Given the description of an element on the screen output the (x, y) to click on. 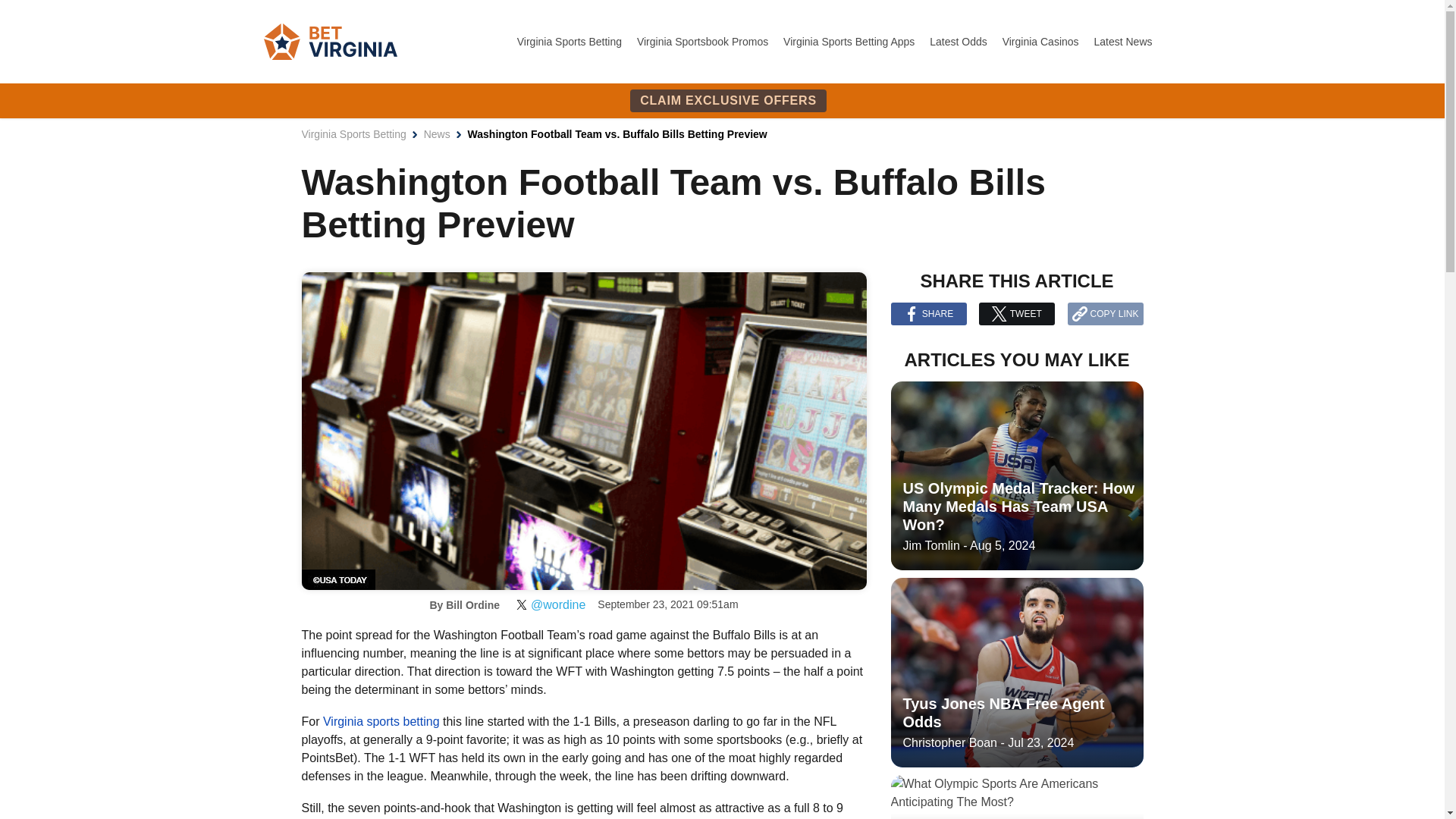
Virginia Sportsbook Promos (704, 41)
Latest Odds (960, 41)
US Olympic Medal Tracker: How Many Medals Has Team USA Won? (1015, 475)
Virginia Sports Betting Apps (850, 41)
Virginia Sports Betting (570, 41)
Virginia Sports Betting (353, 133)
News (436, 133)
What Olympic Sports Are Americans Anticipating The Most? (1015, 796)
Virginia Casinos (1042, 41)
Tyus Jones NBA Free Agent Odds (1015, 672)
